Given the description of an element on the screen output the (x, y) to click on. 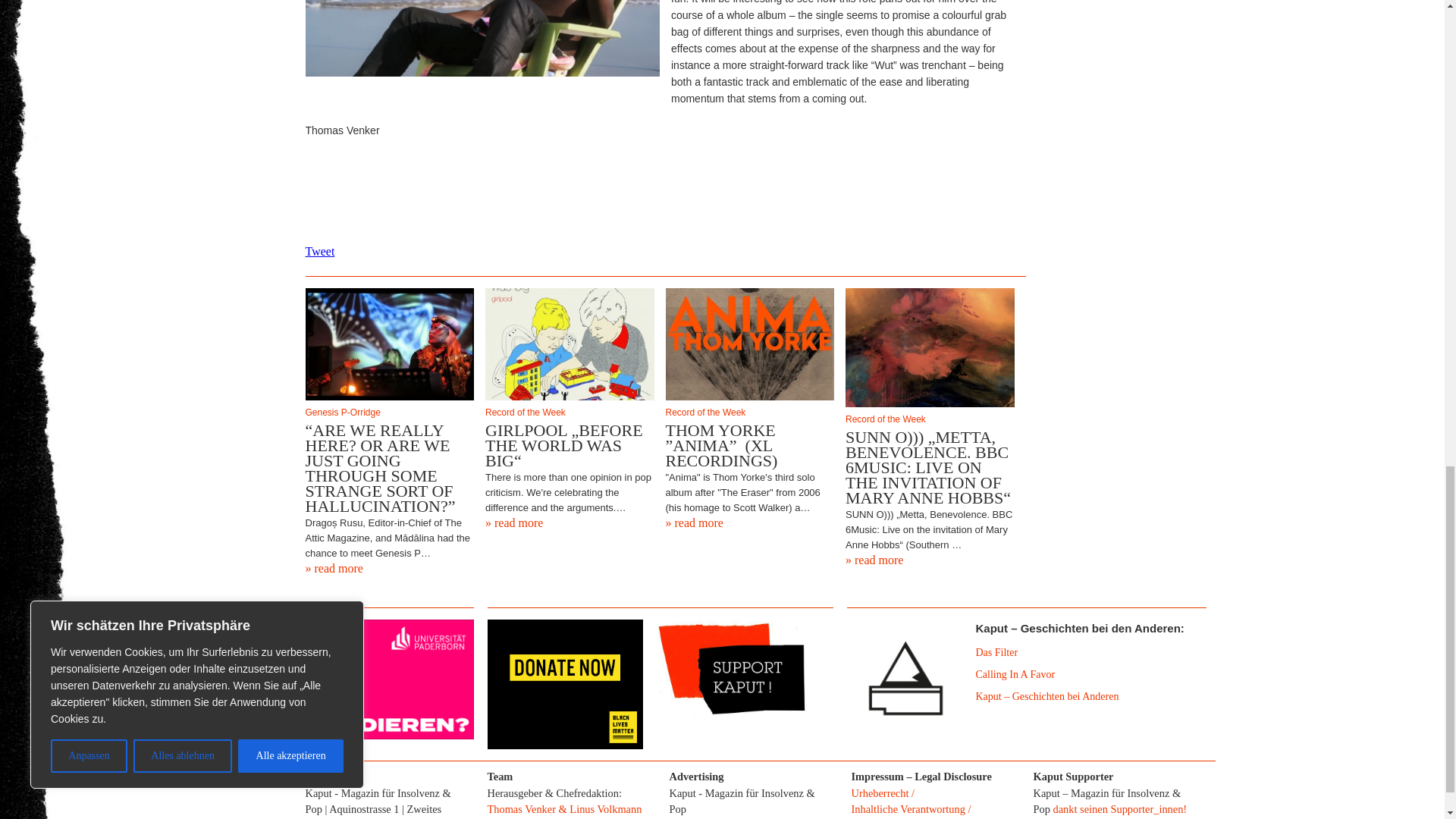
Tweet (319, 250)
Genesis P-Orridge (389, 411)
